Given the description of an element on the screen output the (x, y) to click on. 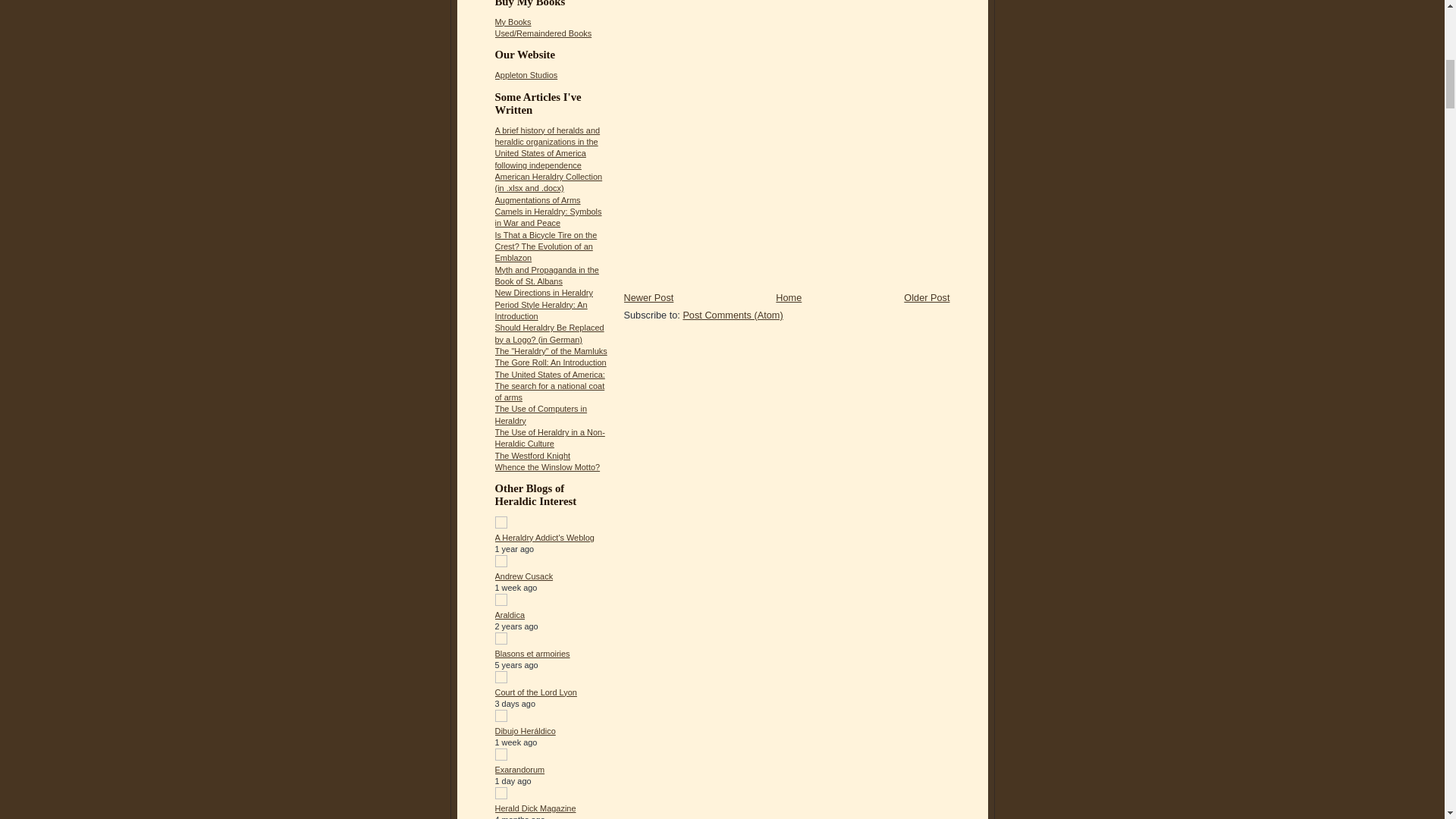
Older Post (926, 297)
New Directions in Heraldry (543, 292)
Camels in Heraldry: Symbols in War and Peace (548, 217)
Araldica (509, 614)
Andrew Cusack (524, 575)
My Books (513, 21)
Period Style Heraldry: An Introduction (540, 310)
The Use of Computers in Heraldry (540, 414)
Augmentations of Arms (537, 199)
Newer Post (647, 297)
Myth and Propaganda in the Book of St. Albans (546, 275)
Appleton Studios (526, 74)
The Use of Heraldry in a Non-Heraldic Culture (549, 437)
